Given the description of an element on the screen output the (x, y) to click on. 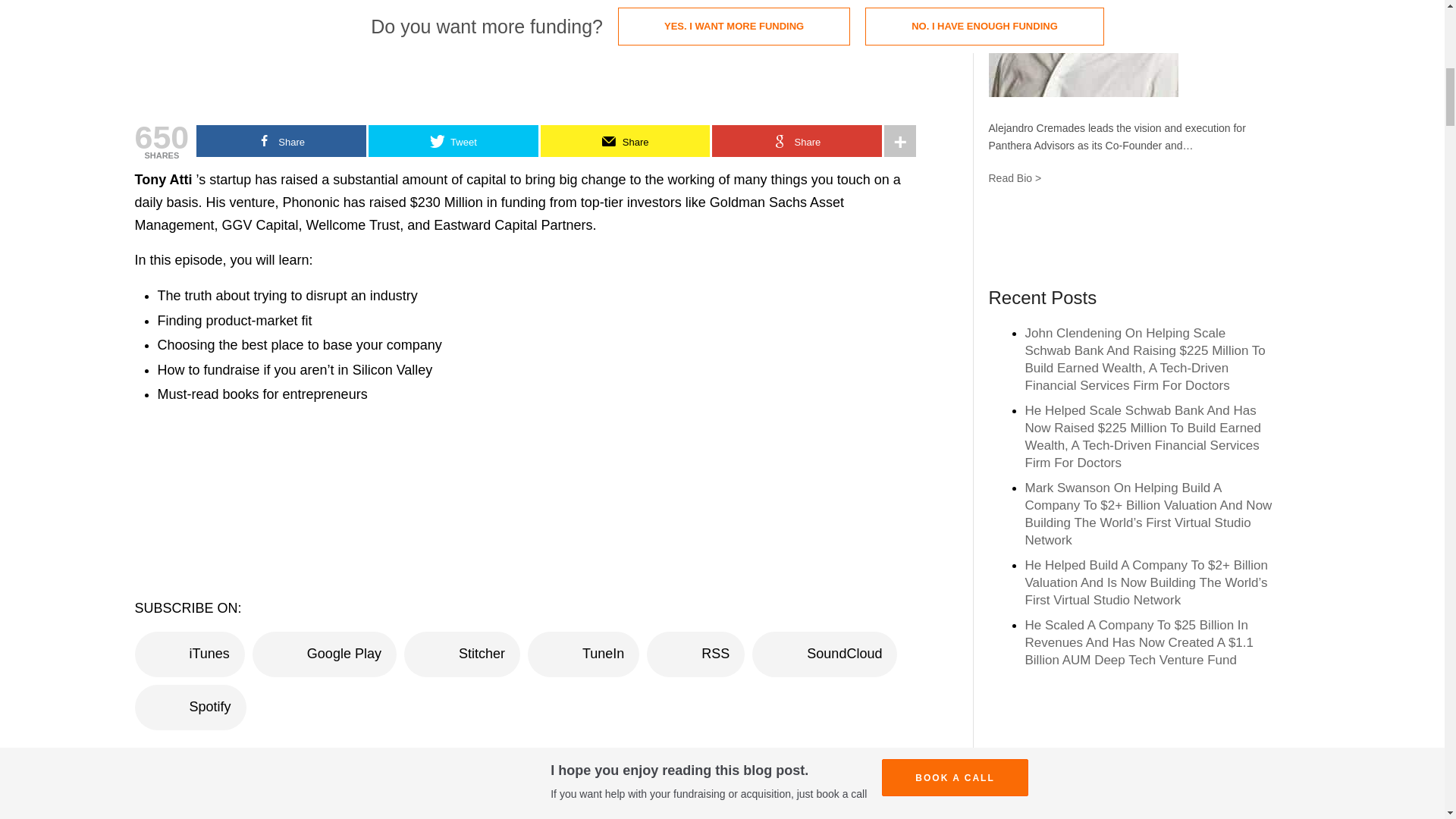
Share (796, 141)
Share (625, 141)
Linkedin Connect (1125, 237)
Tweet (453, 141)
Linkedin Connect (1125, 236)
Share (281, 141)
